Given the description of an element on the screen output the (x, y) to click on. 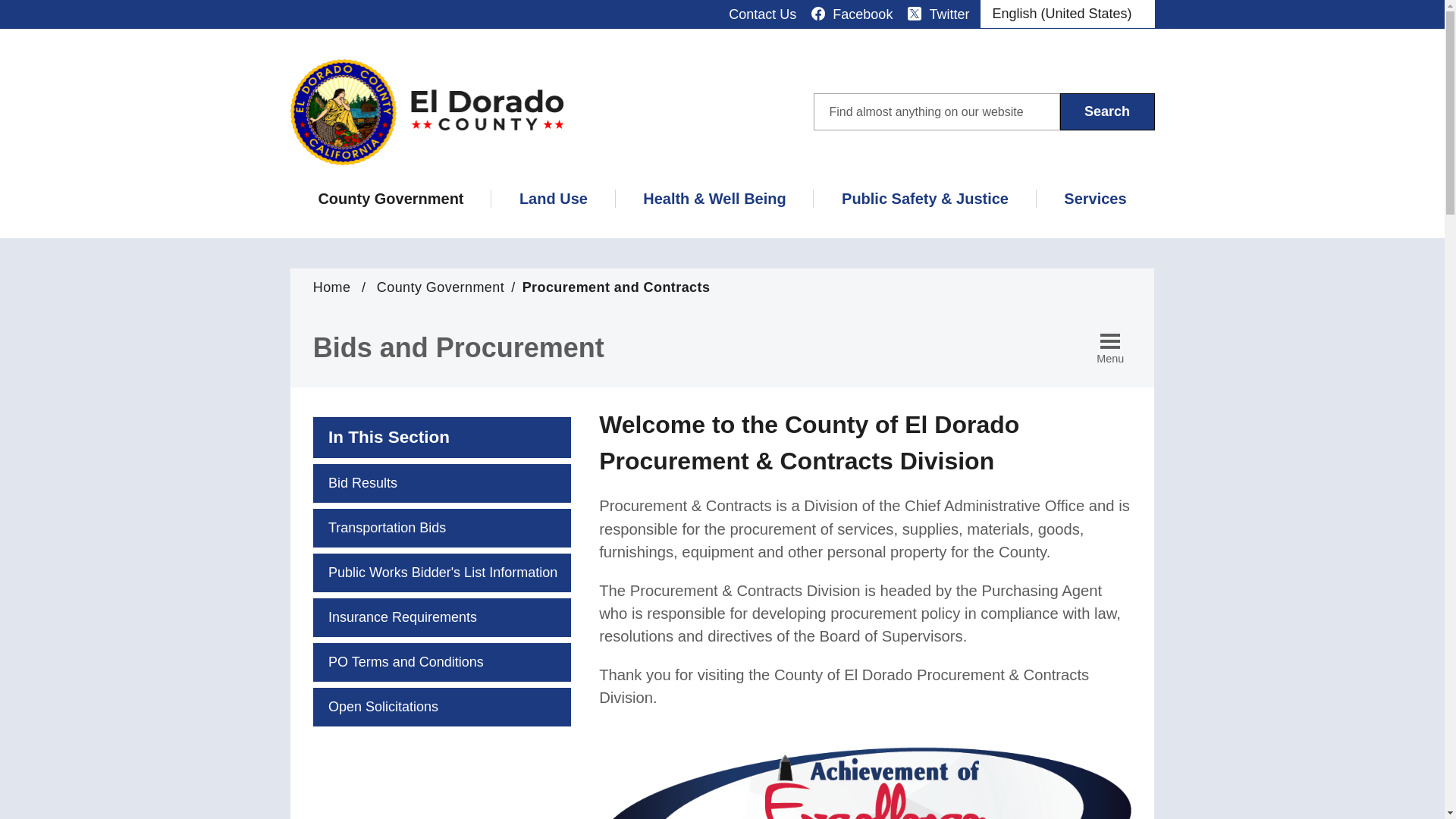
County Government (390, 201)
Facebook (851, 14)
Search (1106, 111)
Contact Us (762, 14)
Search (1106, 111)
Twitter (938, 14)
Search (1106, 111)
Land Use (553, 201)
El Dorado County - Home - Logo (426, 111)
